Given the description of an element on the screen output the (x, y) to click on. 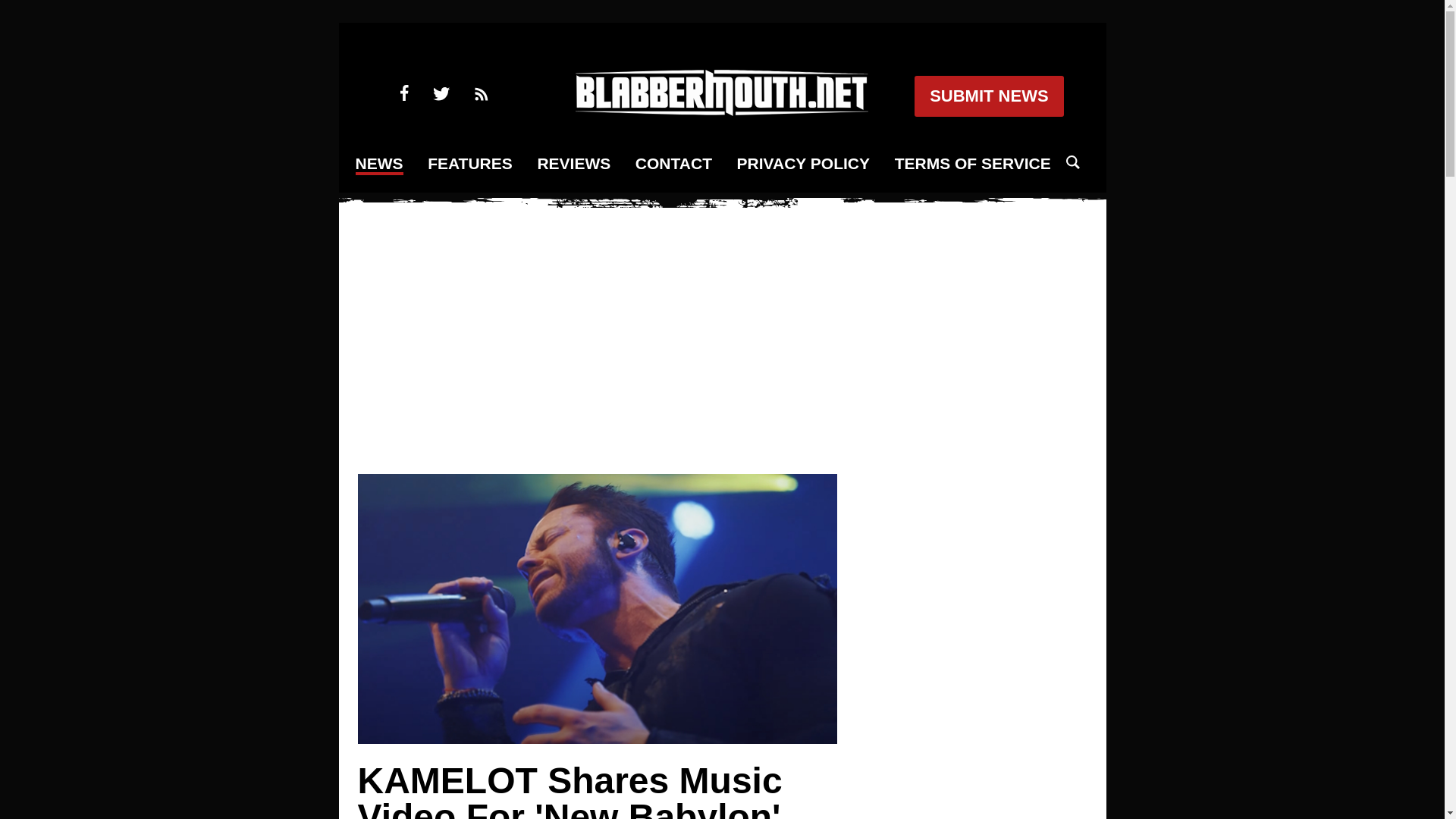
NEWS (379, 164)
CONTACT (672, 163)
PRIVACY POLICY (802, 163)
blabbermouth (721, 110)
SUBMIT NEWS (988, 96)
TERMS OF SERVICE (973, 163)
REVIEWS (573, 163)
search icon (1072, 161)
FEATURES (470, 163)
